Given the description of an element on the screen output the (x, y) to click on. 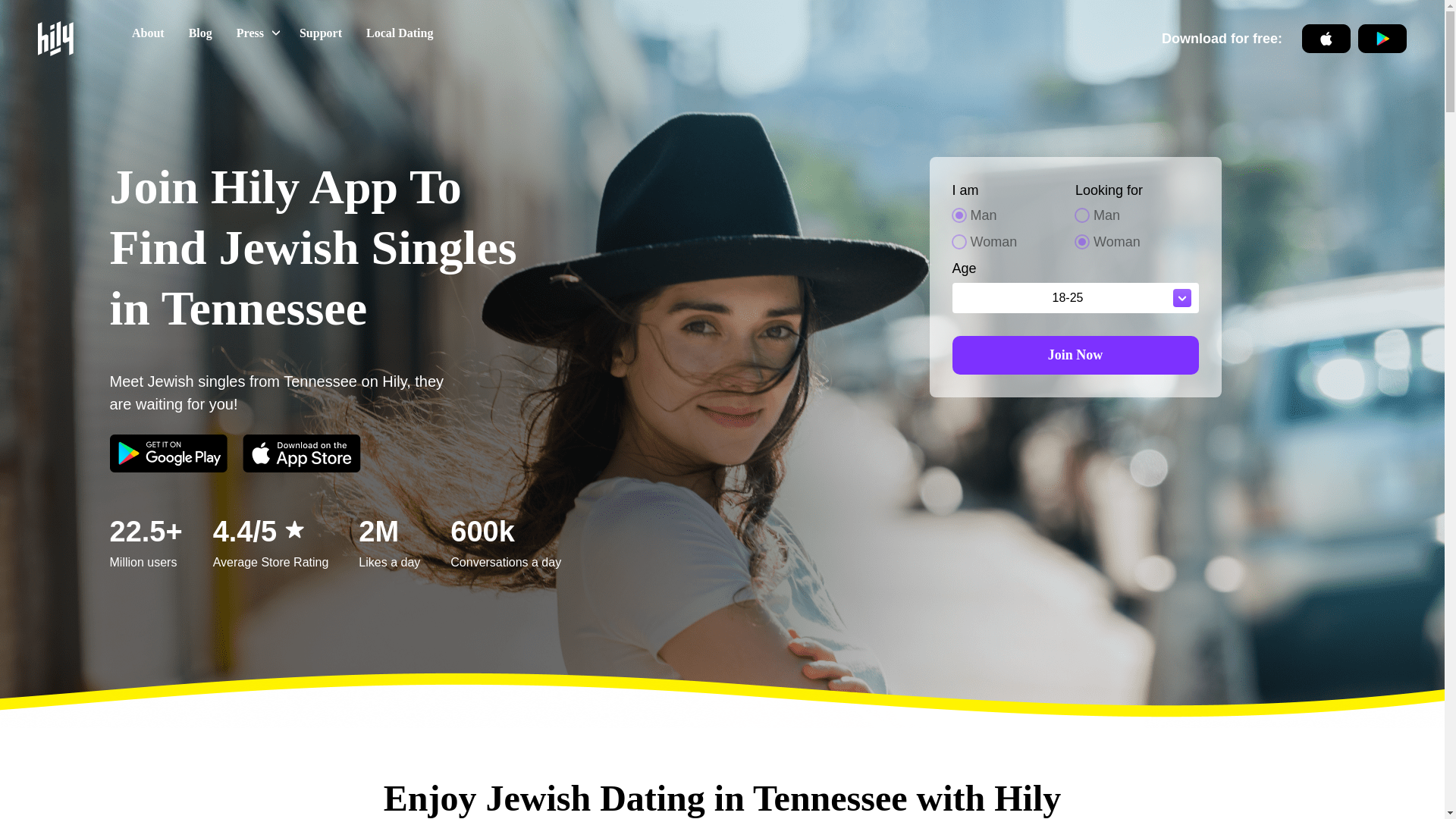
Blog (200, 33)
Support (282, 33)
About (320, 33)
Join Now (147, 33)
Local Dating (1075, 353)
Press (399, 33)
